Given the description of an element on the screen output the (x, y) to click on. 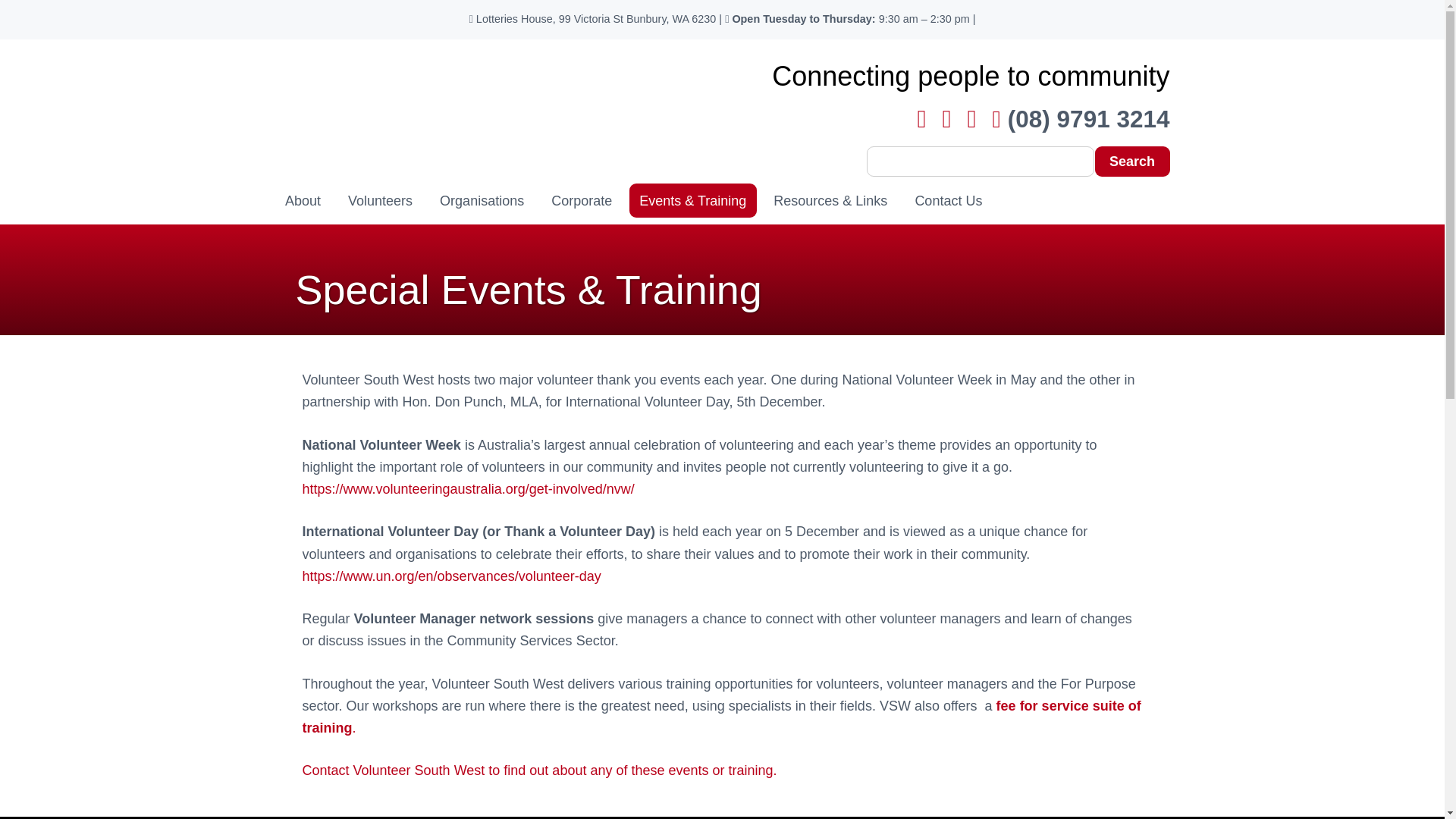
About (302, 200)
Search (1132, 161)
Organisations (481, 200)
Volunteer Support Training (720, 716)
Lotteries House, 99 Victoria St Bunbury, WA 6230 (592, 19)
Contact Us (948, 200)
Volunteers (380, 200)
Search (1132, 161)
Contact (538, 770)
Corporate (582, 200)
